Given the description of an element on the screen output the (x, y) to click on. 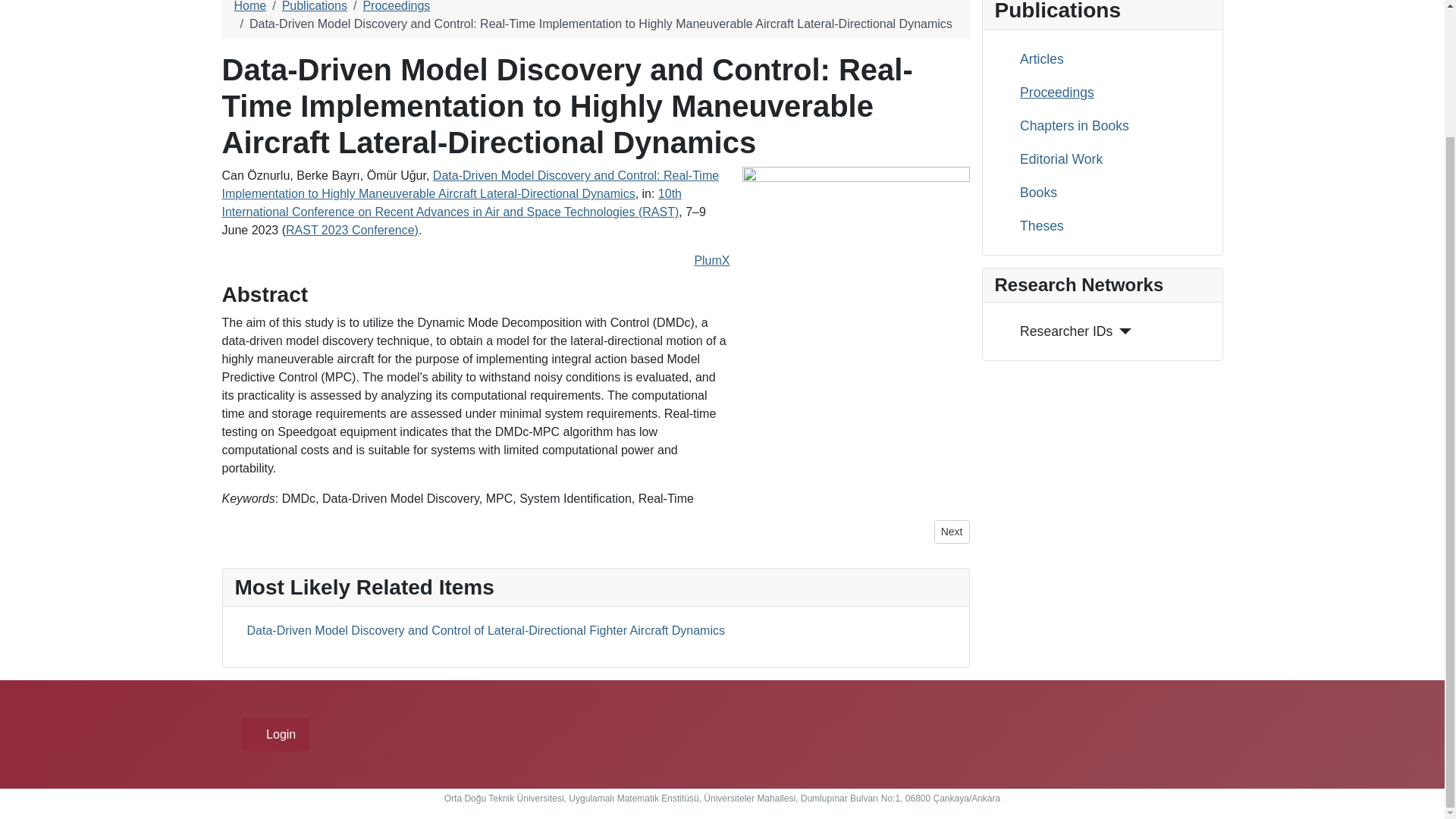
Home (249, 6)
PlumX (711, 259)
Chapters in Books (1068, 125)
Editorial Work (1054, 158)
Articles (1035, 58)
Publications (314, 6)
Proceedings (395, 6)
